Given the description of an element on the screen output the (x, y) to click on. 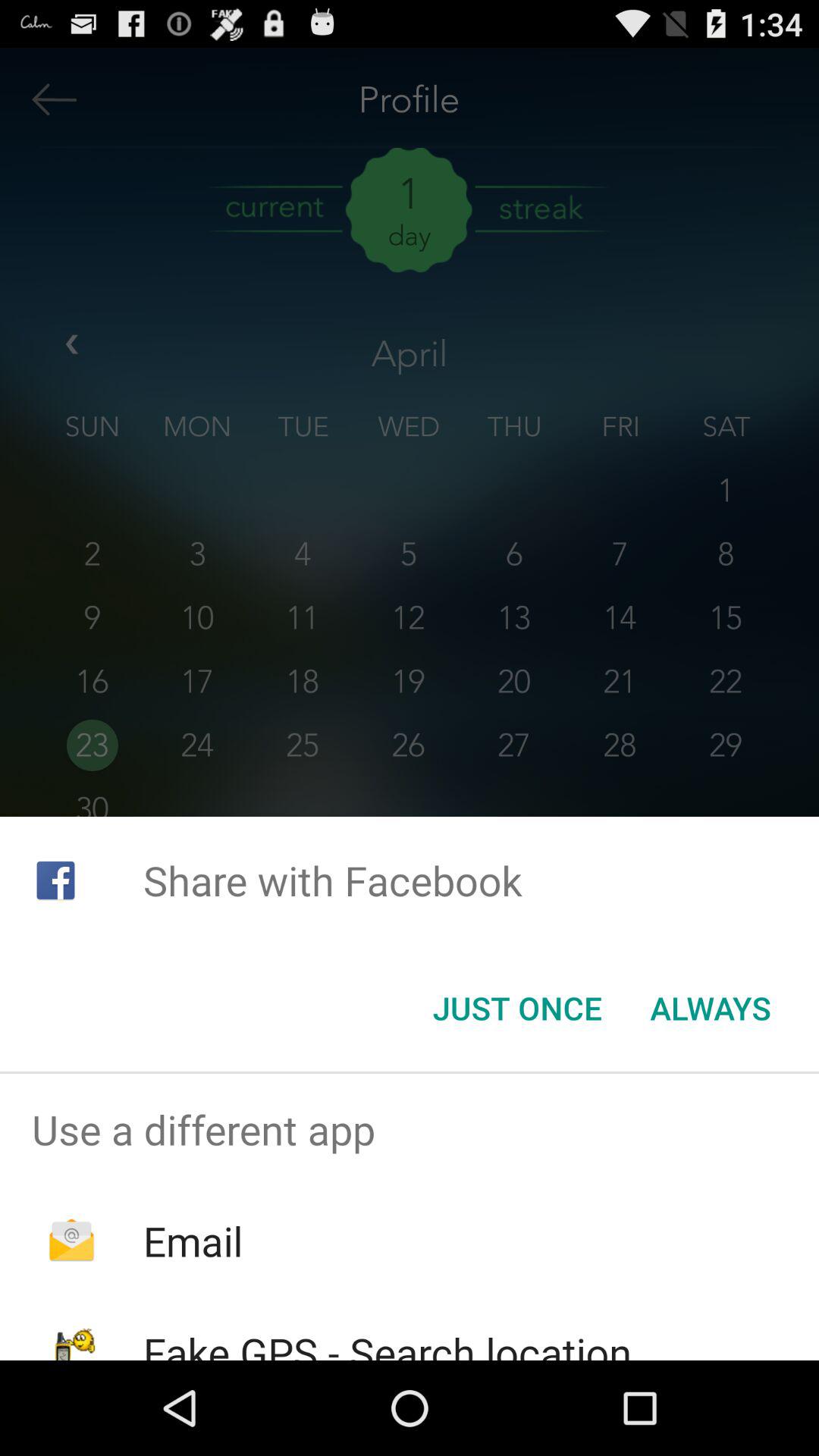
select just once icon (517, 1007)
